Given the description of an element on the screen output the (x, y) to click on. 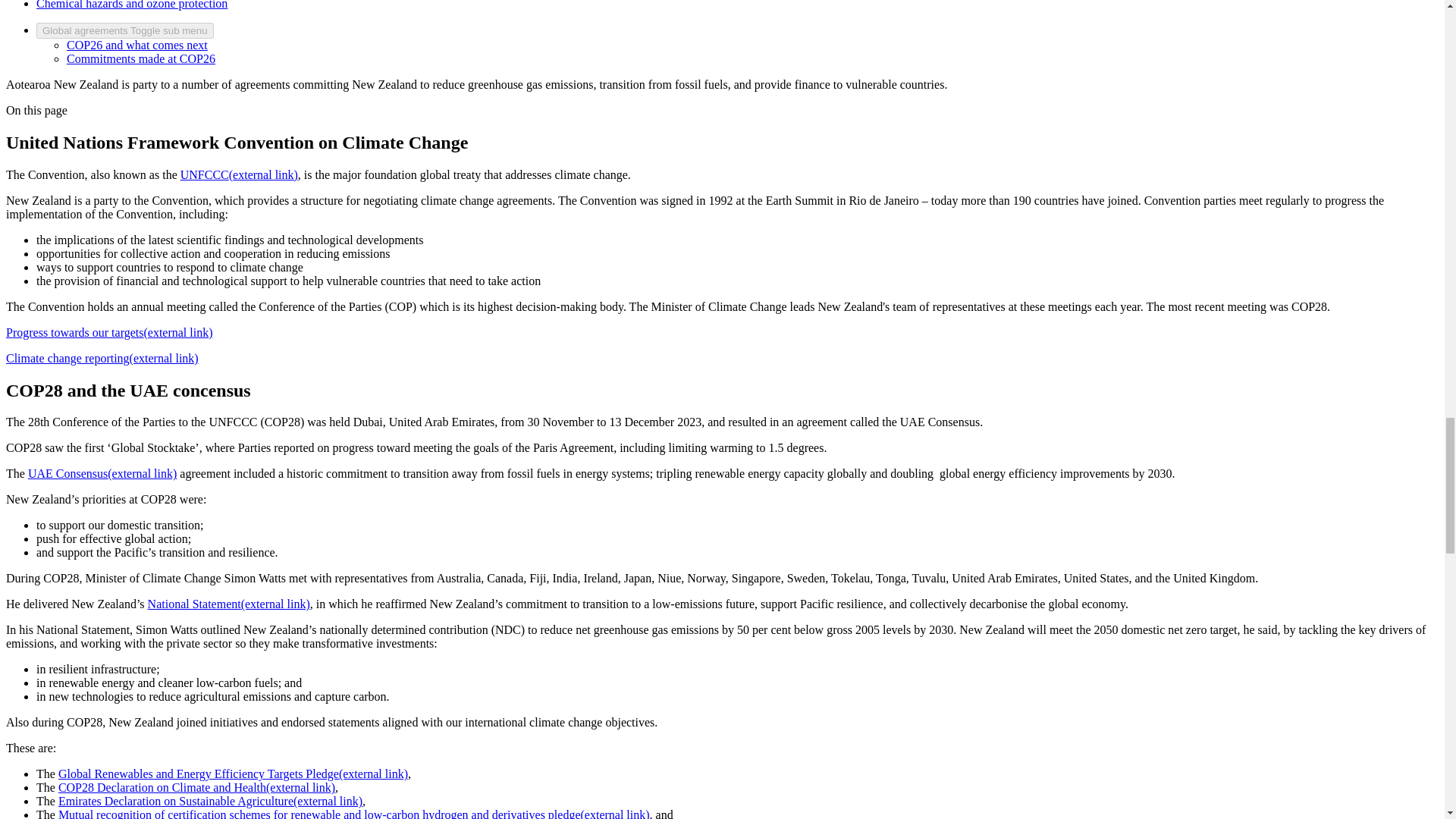
Open external link (229, 603)
Open external link (108, 332)
Open external link (239, 174)
Open external link (232, 773)
Open external link (101, 472)
Open external link (353, 813)
Open external link (196, 787)
Open external link (210, 800)
Open external link (101, 358)
